Given the description of an element on the screen output the (x, y) to click on. 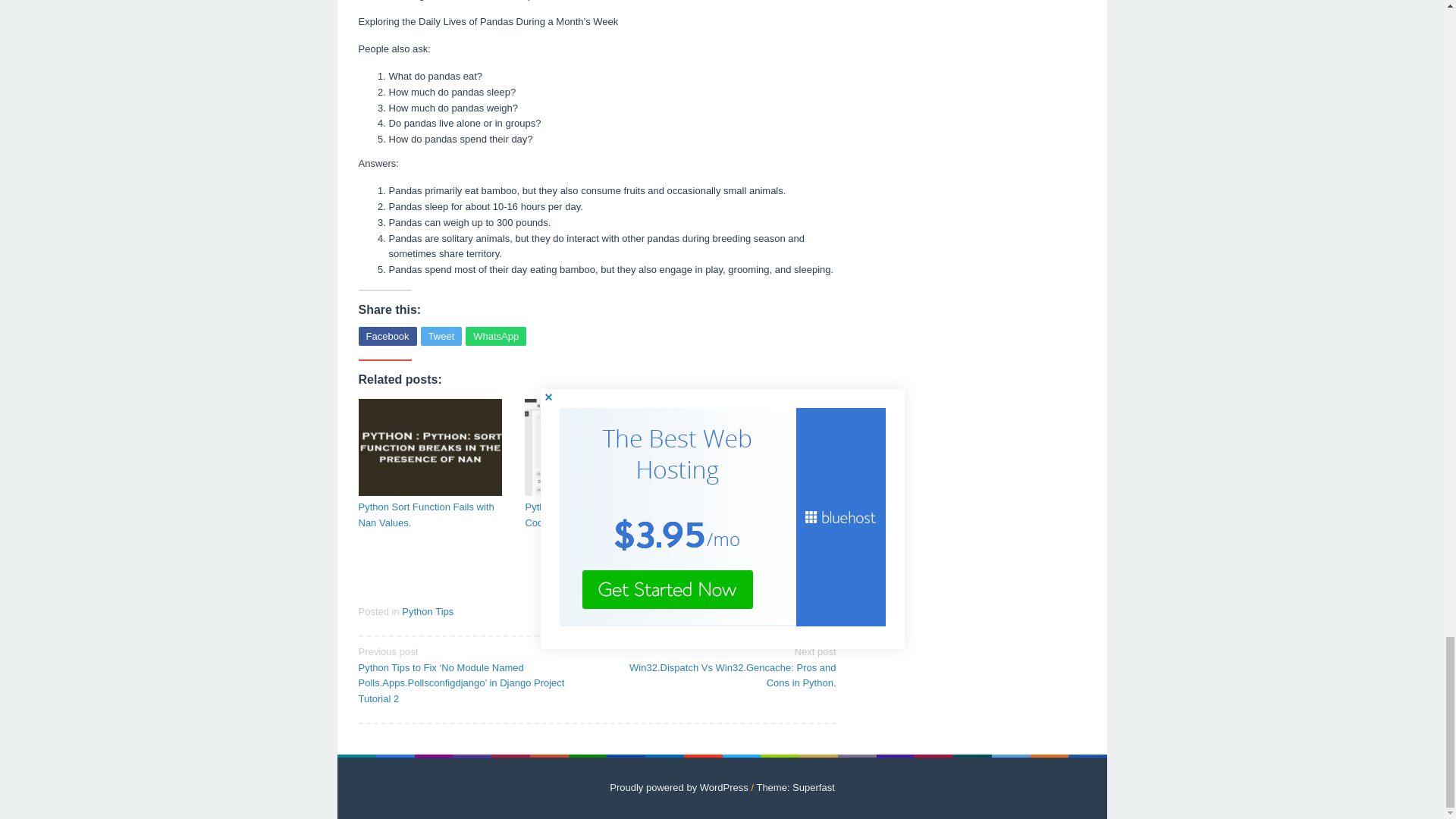
Permalink to: Python Sort Function Fails with Nan Values. (430, 515)
Python Tips (426, 611)
Permalink to: Python Sort Function Fails with Nan Values. (430, 447)
Tweet (441, 335)
Facebook (387, 335)
WhatsApp (495, 335)
Tweet this (441, 335)
